Given the description of an element on the screen output the (x, y) to click on. 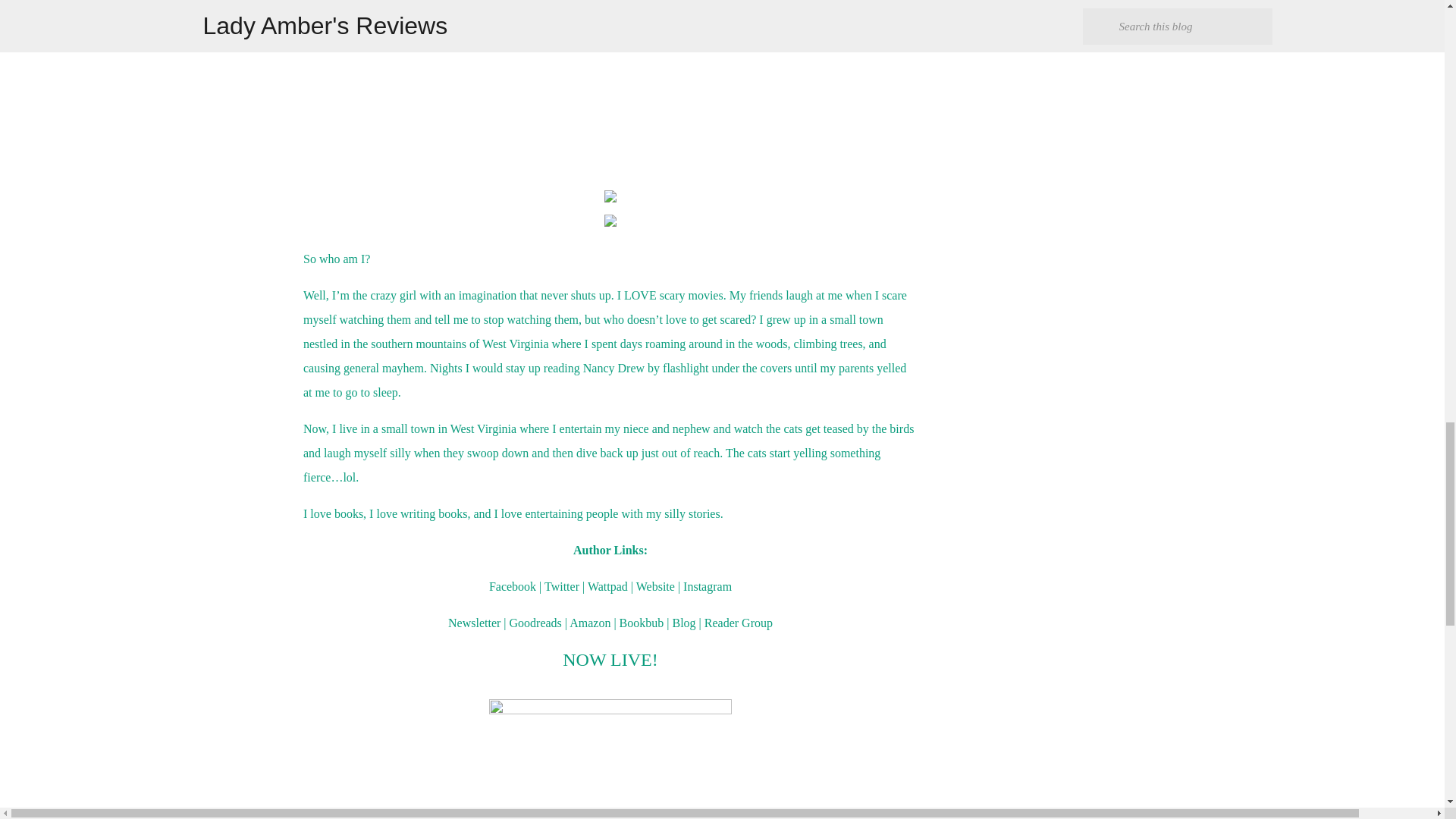
Twitter (561, 585)
Blog (683, 622)
NOW LIVE! (610, 659)
Amazon (589, 622)
Goodreads (535, 622)
Newsletter (474, 622)
Bookbub (641, 622)
Facebook (512, 585)
Reader Group (738, 622)
Website (655, 585)
Wattpad (607, 585)
Instagram (707, 585)
